Given the description of an element on the screen output the (x, y) to click on. 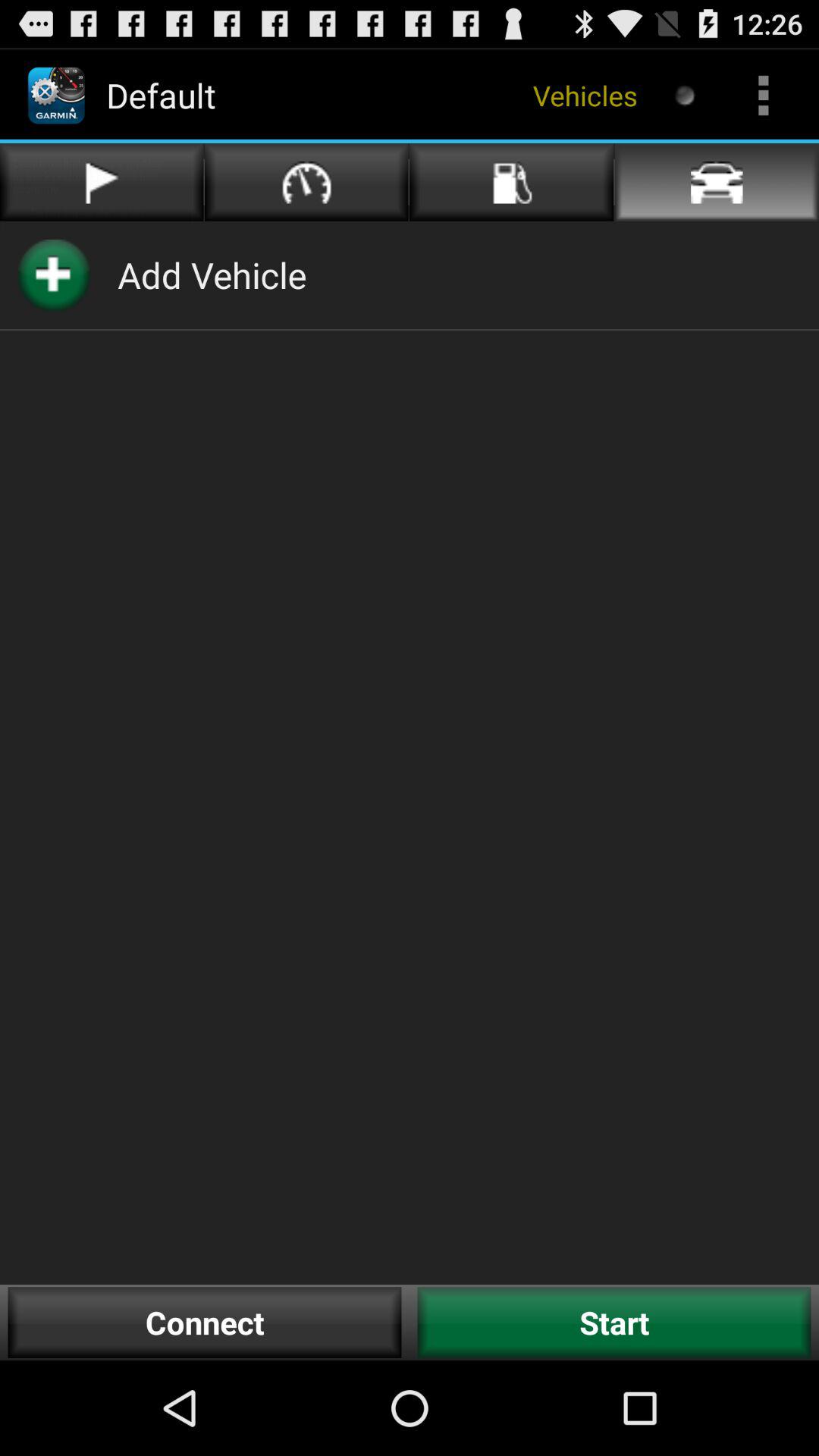
choose add vehicle item (211, 274)
